Given the description of an element on the screen output the (x, y) to click on. 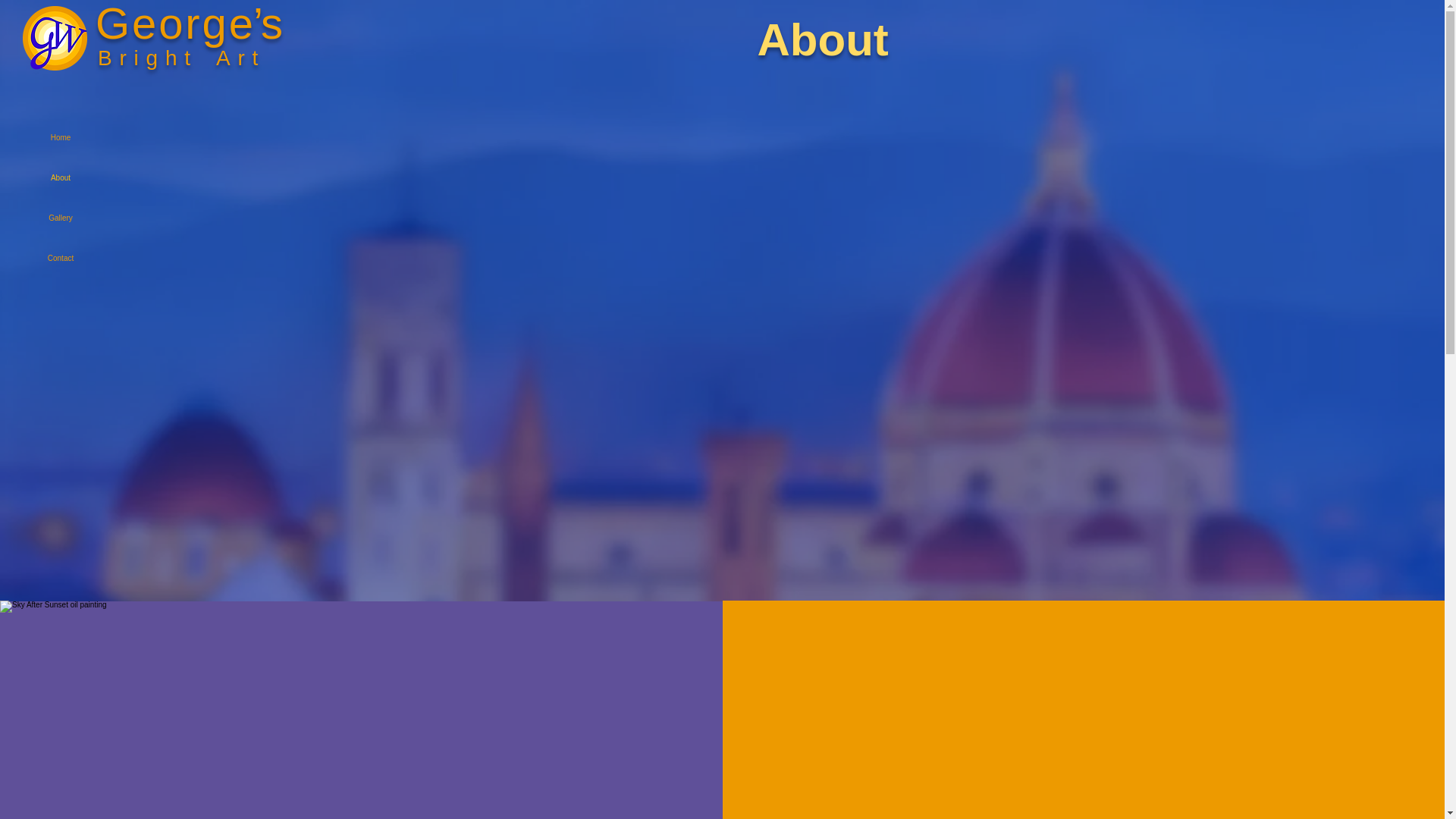
About (61, 178)
Bright (147, 57)
Contact (61, 258)
Gallery (61, 218)
Home (61, 137)
Art (239, 57)
